Given the description of an element on the screen output the (x, y) to click on. 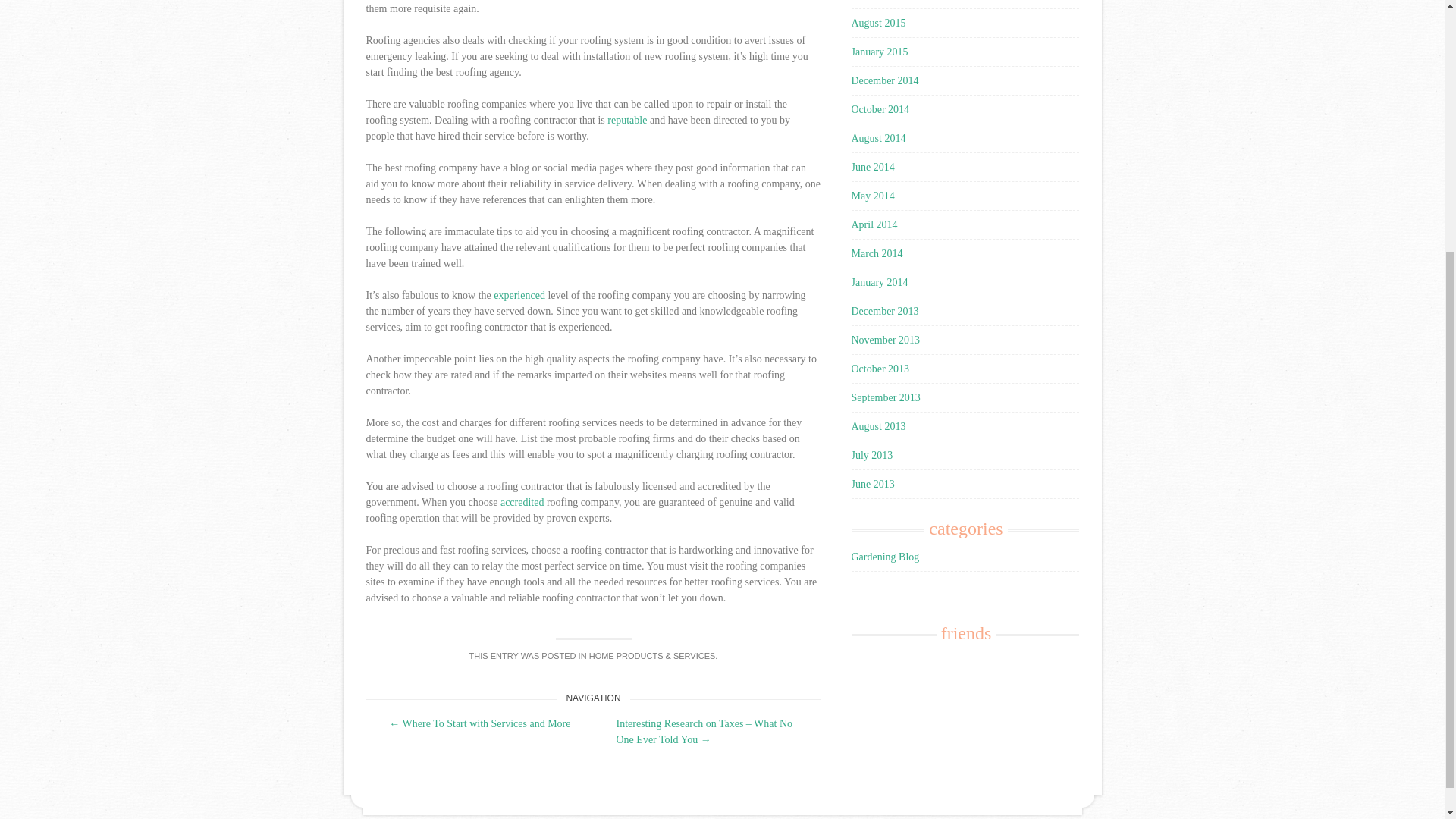
View all posts filed under Gardening Blog (884, 556)
July 2013 (871, 455)
reputable (626, 120)
November 2013 (885, 339)
April 2014 (873, 224)
accredited (522, 501)
May 2014 (871, 195)
Gardening Blog (884, 556)
December 2013 (884, 310)
December 2014 (884, 80)
